Given the description of an element on the screen output the (x, y) to click on. 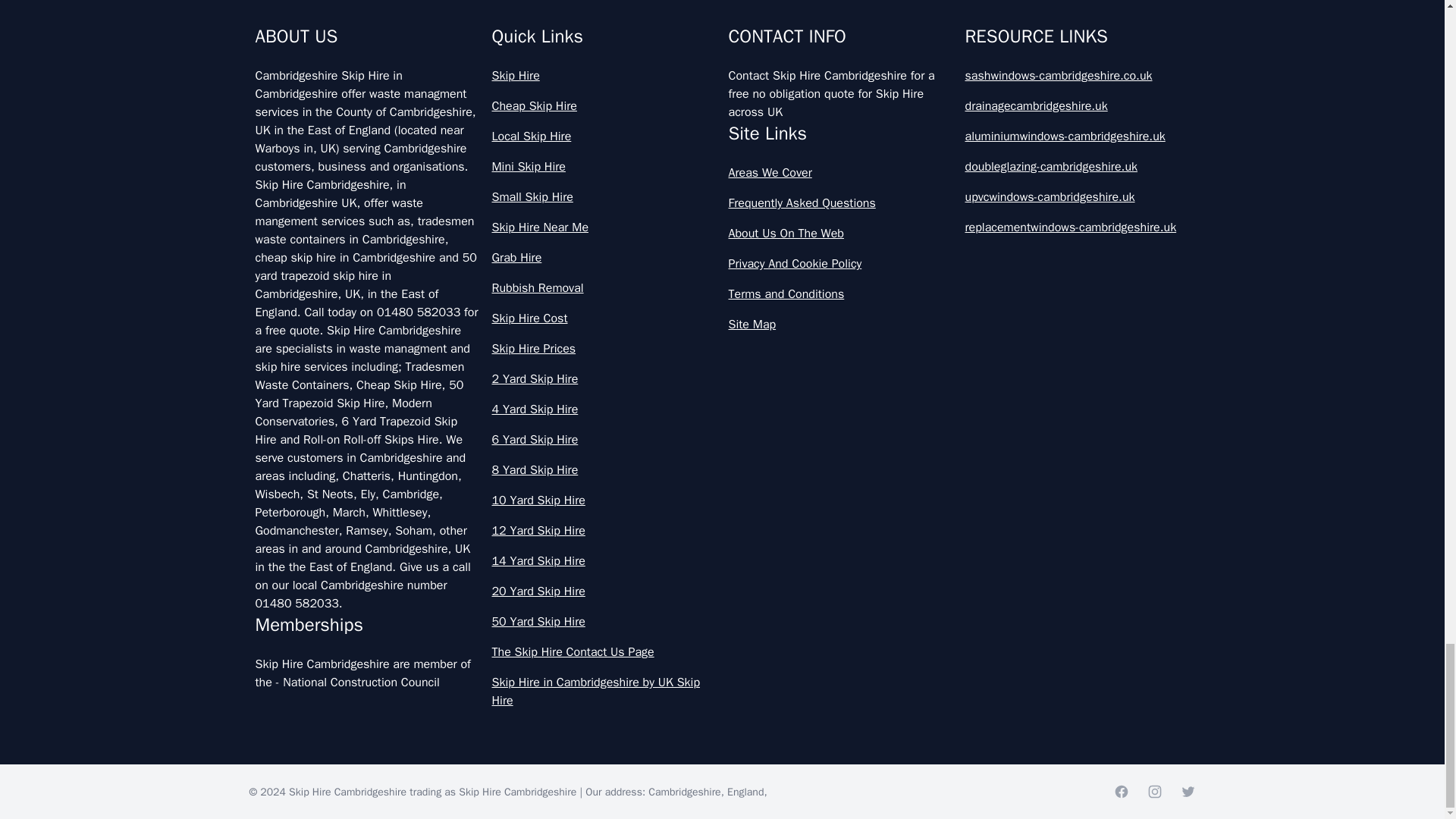
Small Skip Hire (604, 197)
doubleglazing-cambridgeshire.uk (1076, 167)
Skip Hire in Cambridgeshire by UK Skip Hire (604, 691)
Site Map (840, 324)
National Construction Council (360, 682)
Cheap Skip Hire (604, 106)
Skip Hire (604, 75)
replacementwindows-cambridgeshire.uk (1076, 227)
drainagecambridgeshire.uk (1076, 106)
Skip Hire Near Me (604, 227)
